Given the description of an element on the screen output the (x, y) to click on. 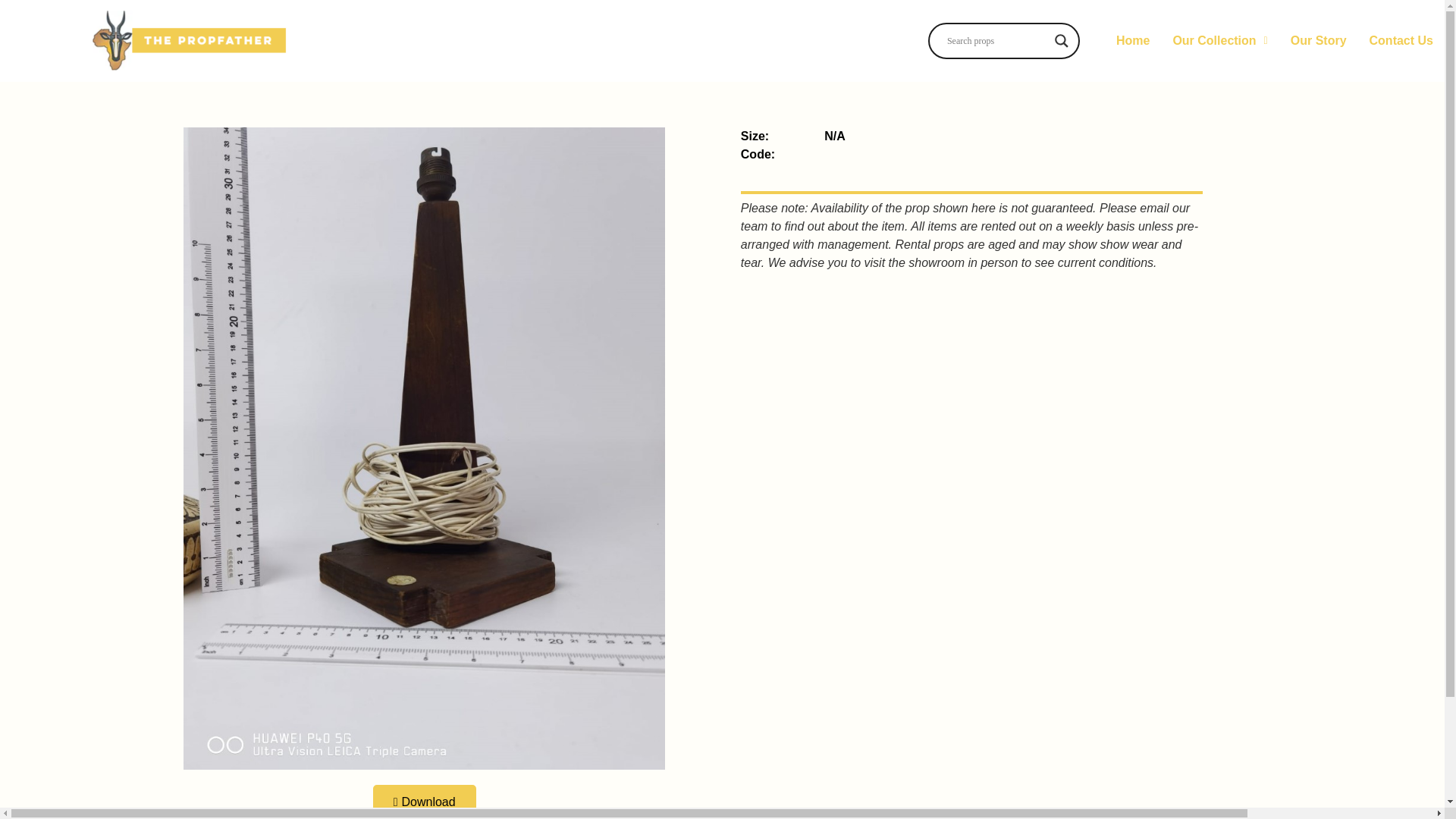
Home (1132, 40)
Our Collection (1219, 40)
